Given the description of an element on the screen output the (x, y) to click on. 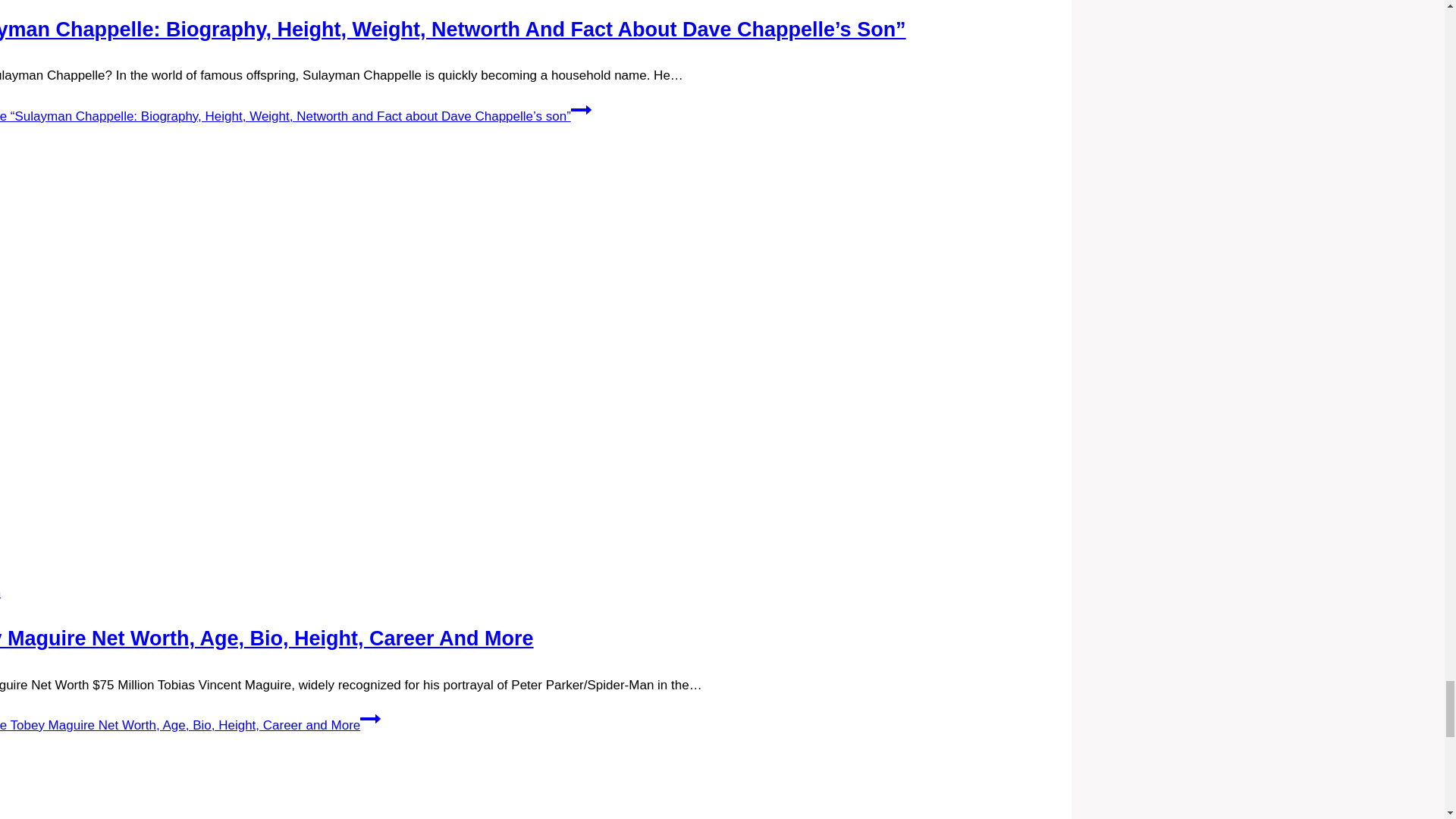
Continue (580, 108)
Continue (369, 718)
